Given the description of an element on the screen output the (x, y) to click on. 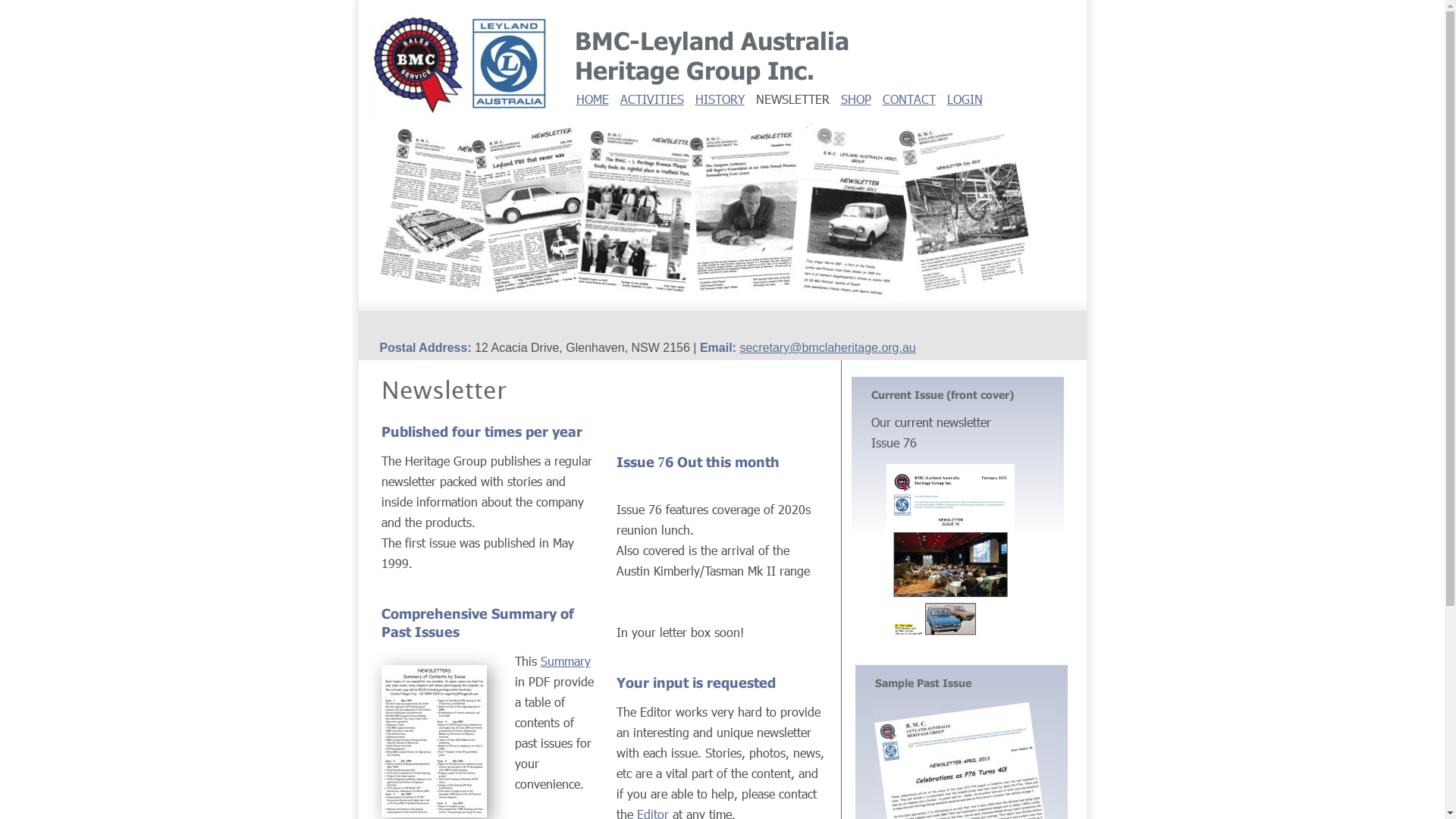
LOGIN Element type: text (964, 98)
secretary@bmclaheritage.org.au Element type: text (827, 347)
SHOP Element type: text (855, 98)
ACTIVITIES Element type: text (652, 98)
CONTACT Element type: text (908, 98)
HOME Element type: text (592, 98)
HISTORY Element type: text (718, 98)
Summary Element type: text (564, 660)
